Given the description of an element on the screen output the (x, y) to click on. 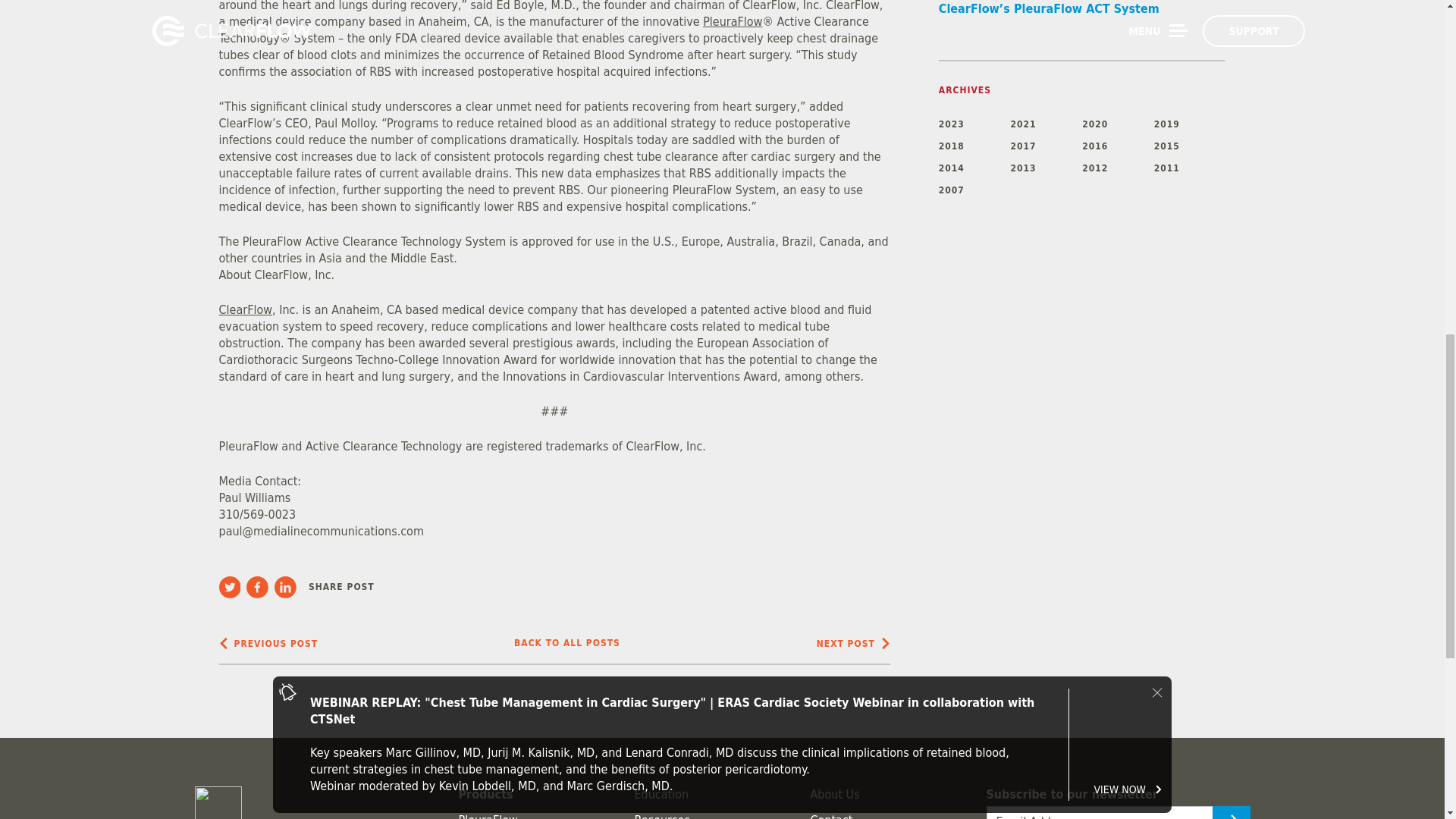
2015 (1189, 146)
2021 (1045, 124)
NEXT POST (852, 642)
PleuraFlow (732, 21)
PREVIOUS POST (267, 642)
BACK TO ALL POSTS (566, 643)
LinkedIn (288, 587)
2019 (1189, 124)
ClearFlow (245, 309)
2023 (974, 124)
